Given the description of an element on the screen output the (x, y) to click on. 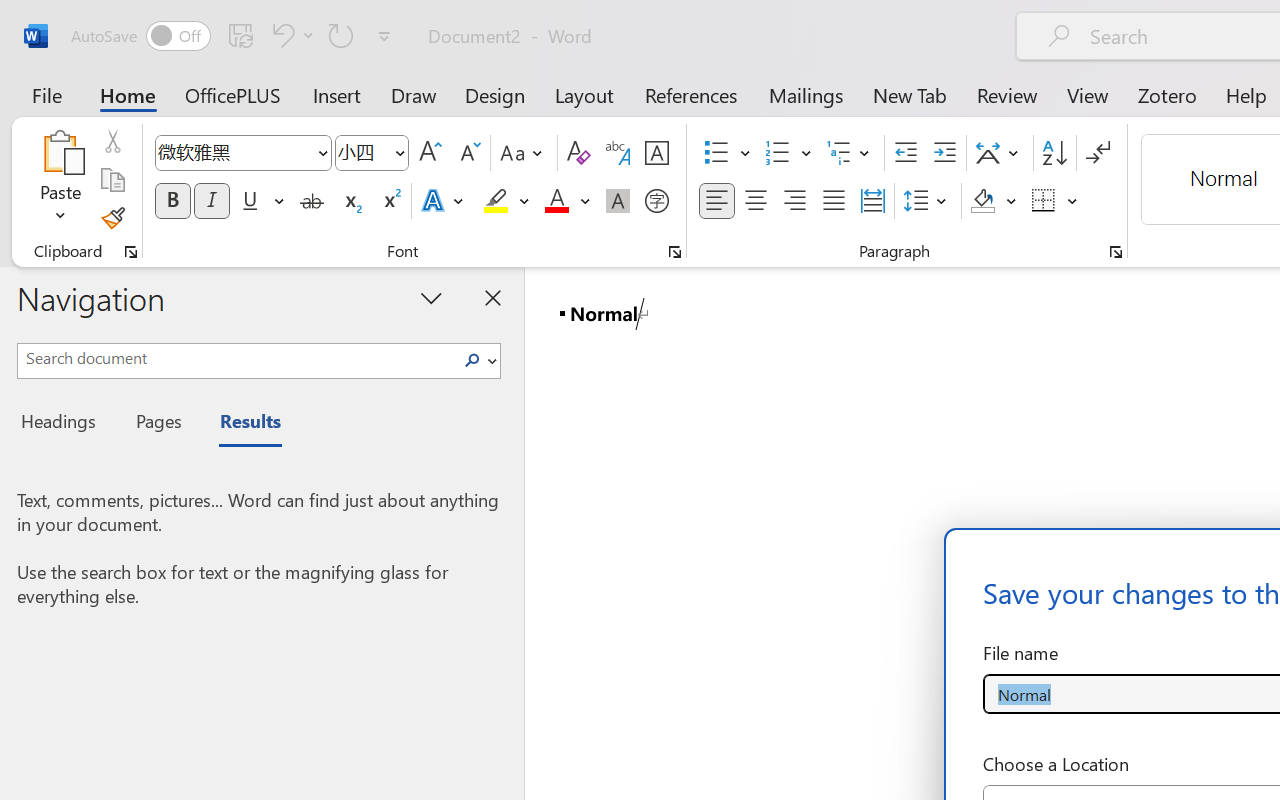
Copy (112, 179)
Insert (337, 94)
Center (756, 201)
Search (471, 360)
Search document (236, 358)
Results (240, 424)
Grow Font (430, 153)
Shading RGB(0, 0, 0) (982, 201)
Save (241, 35)
Font (242, 153)
Bullets (716, 153)
Numbering (778, 153)
Justify (834, 201)
Office Clipboard... (131, 252)
Decrease Indent (906, 153)
